Given the description of an element on the screen output the (x, y) to click on. 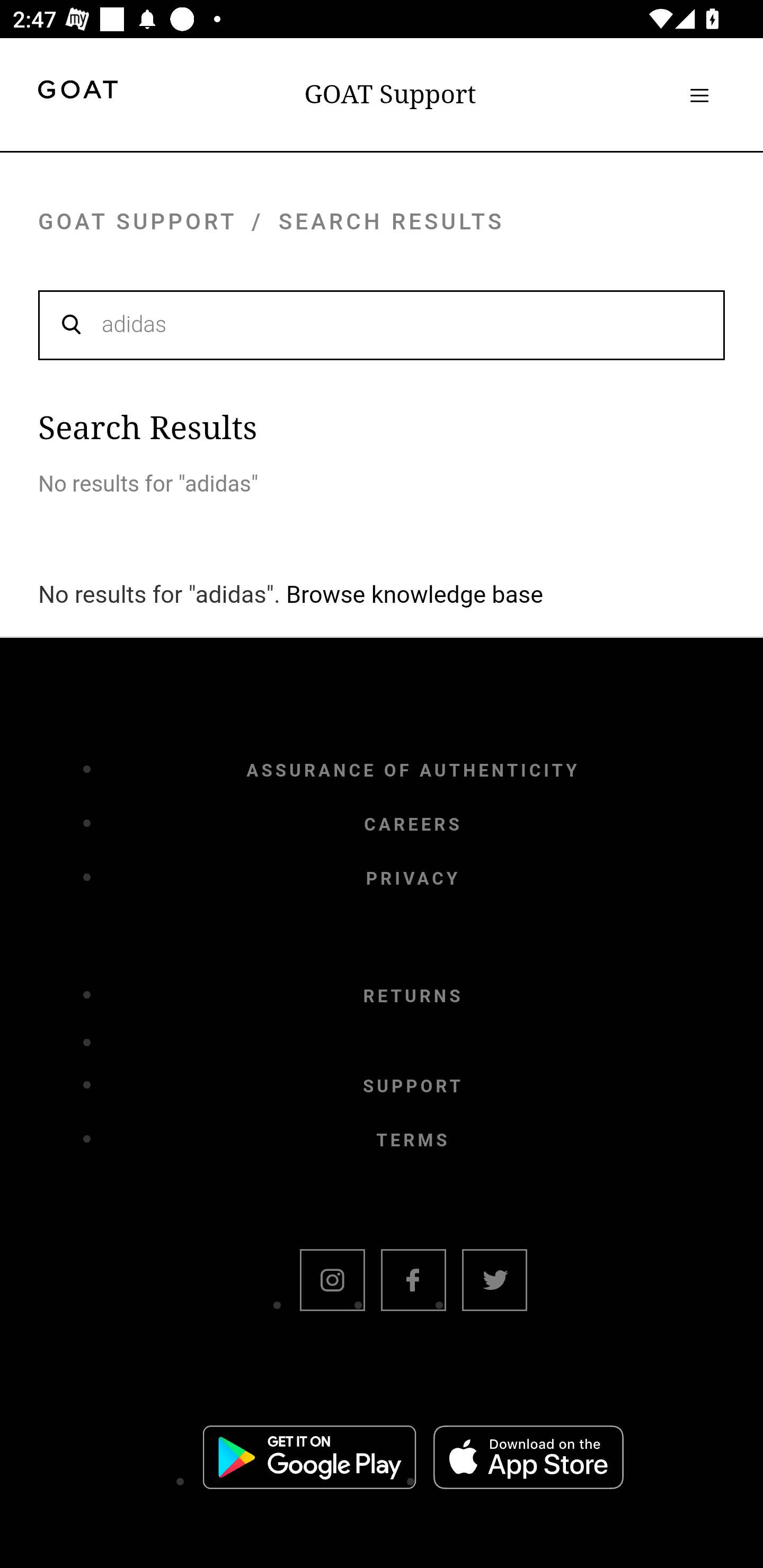
goat header logo (77, 92)
Toggle navigation menu (698, 94)
GOAT Support (389, 94)
GOAT SUPPORT (137, 221)
adidas (381, 324)
Browse knowledge base (414, 594)
ASSURANCE OF AUTHENTICITY (412, 770)
CAREERS (412, 824)
PRIVACY (412, 878)
RETURNS (412, 997)
SUPPORT (412, 1086)
TERMS (413, 1141)
instagram icon (331, 1282)
facebook icon (413, 1282)
twitter icon (494, 1282)
Google Playstore badge (309, 1460)
Apple Appstore badge (528, 1460)
